Given the description of an element on the screen output the (x, y) to click on. 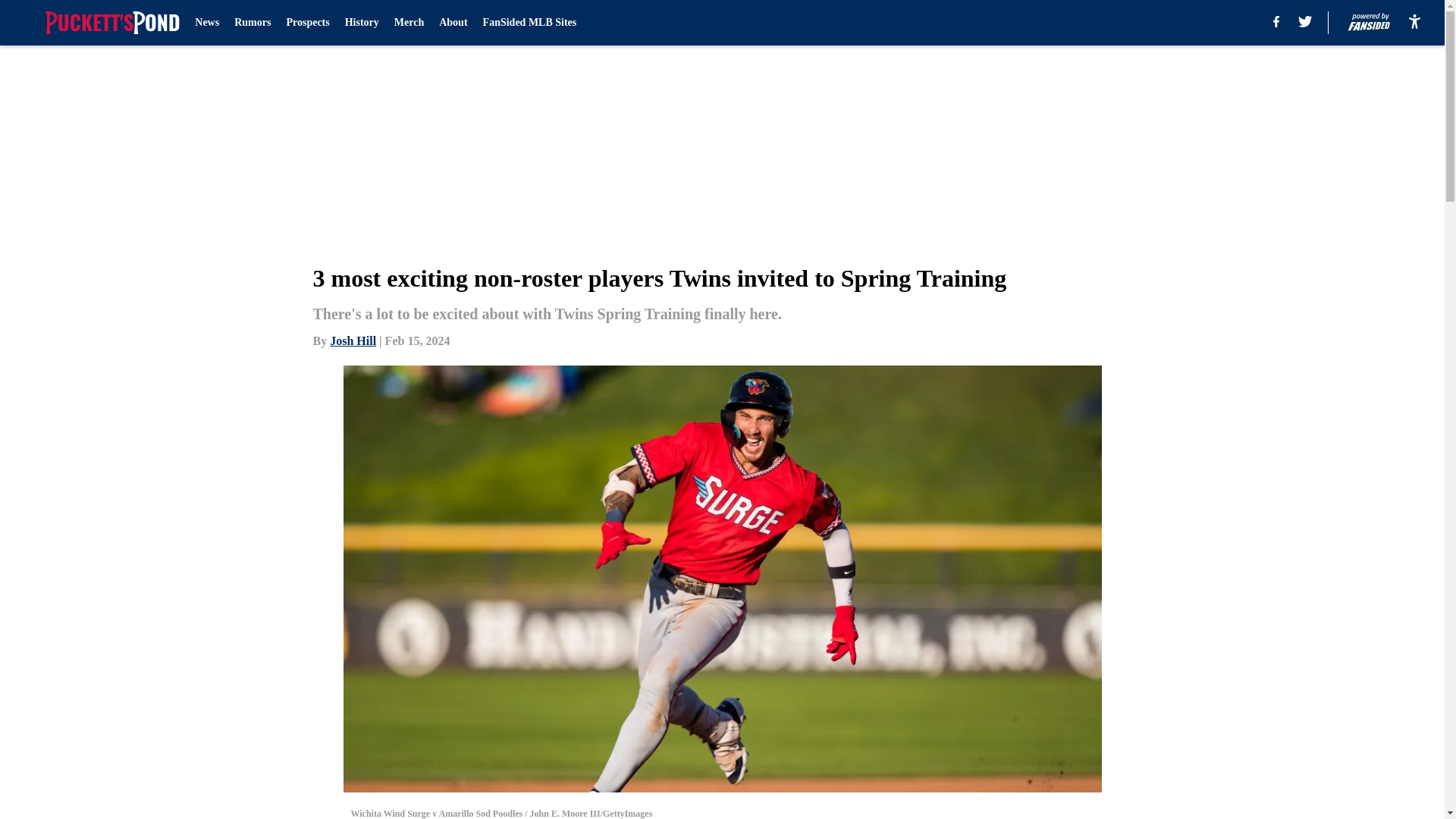
Rumors (252, 22)
Merch (408, 22)
Prospects (307, 22)
Josh Hill (352, 340)
FanSided MLB Sites (529, 22)
About (453, 22)
News (207, 22)
History (361, 22)
